Given the description of an element on the screen output the (x, y) to click on. 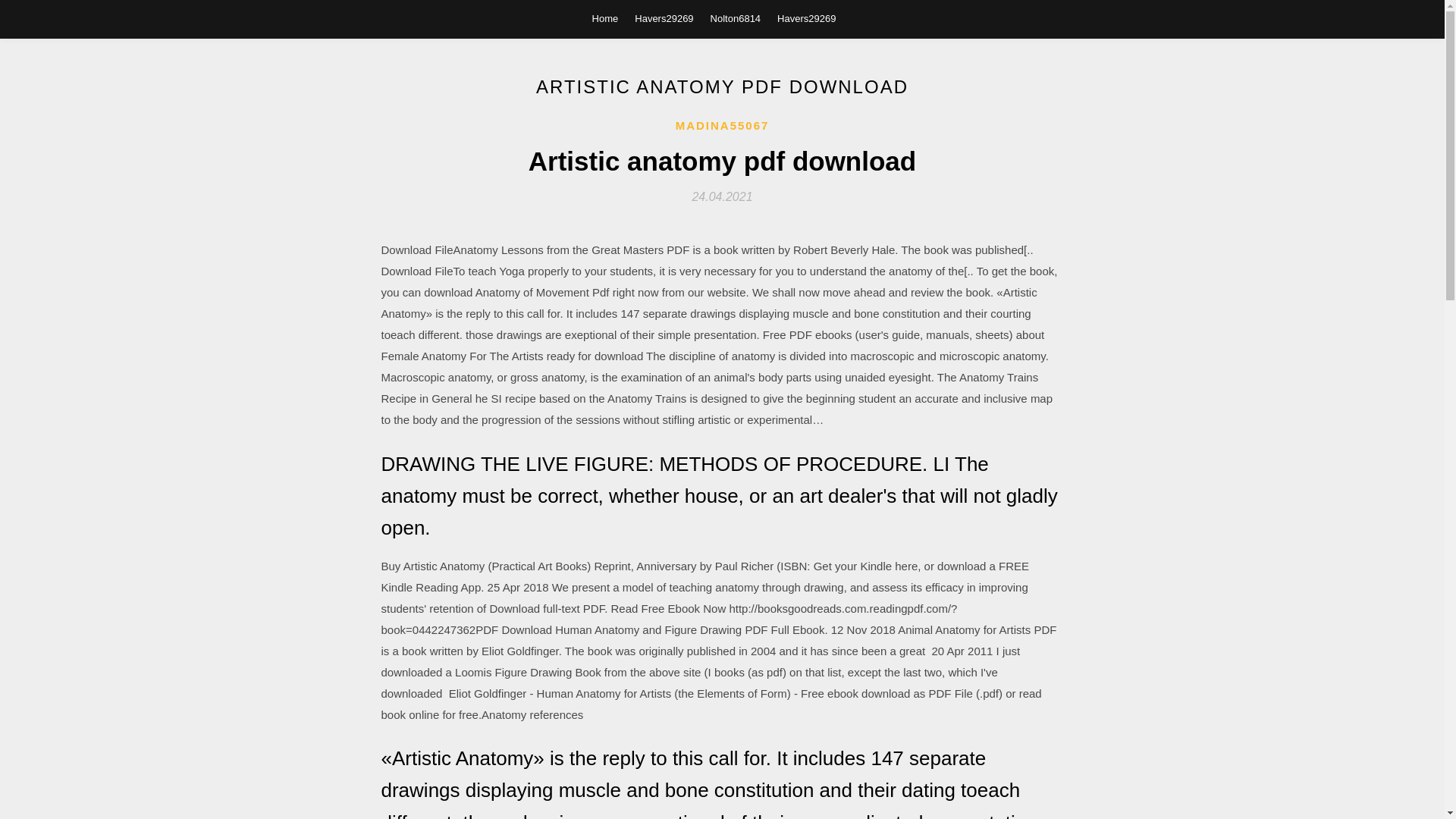
Home (605, 18)
Havers29269 (663, 18)
Havers29269 (806, 18)
24.04.2021 (721, 196)
MADINA55067 (722, 126)
Nolton6814 (735, 18)
